Given the description of an element on the screen output the (x, y) to click on. 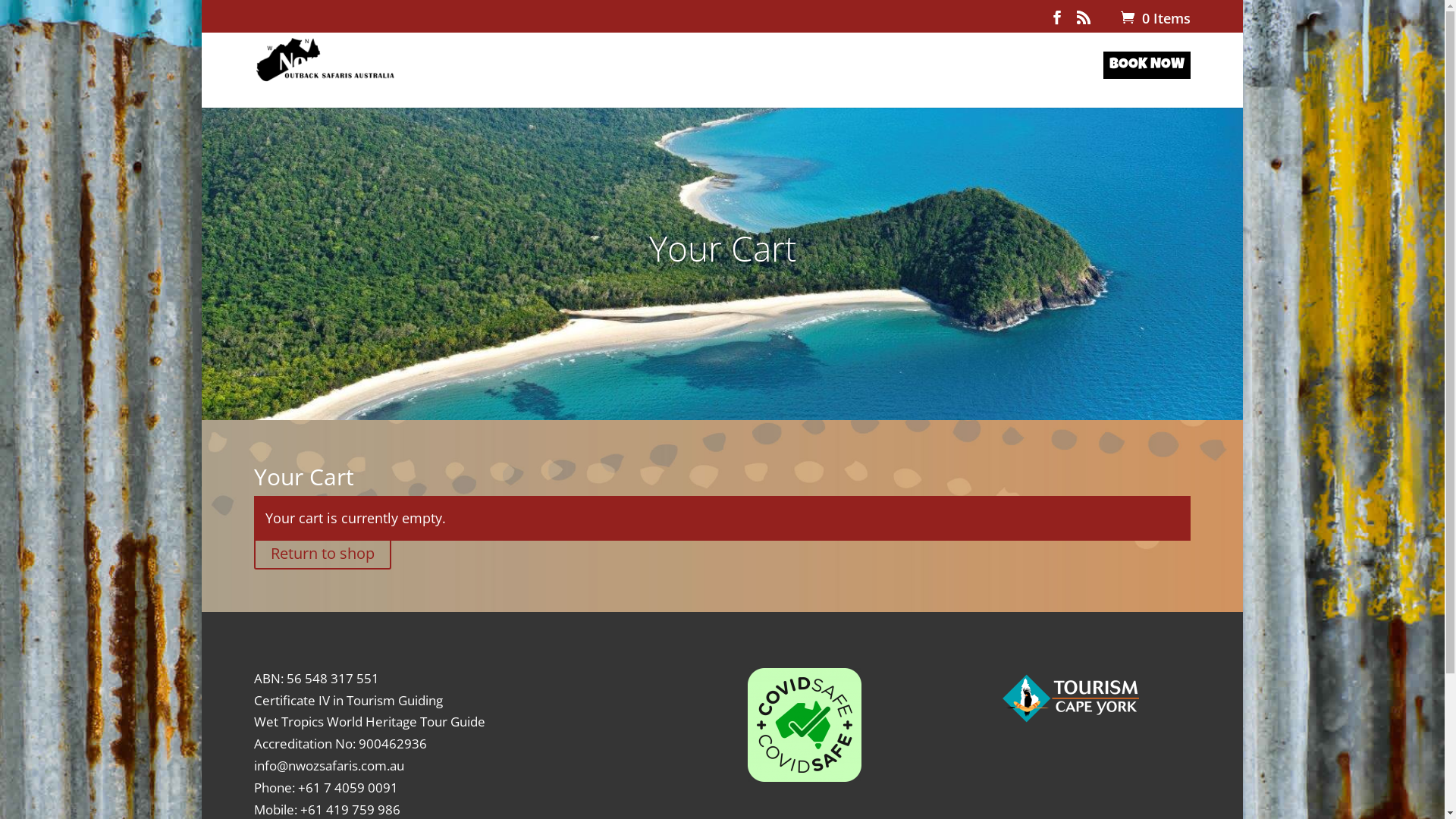
GALLERY Element type: text (974, 83)
0 Items Element type: text (1153, 18)
TOURS Element type: text (630, 83)
Return to shop Element type: text (322, 552)
CONTACT Element type: text (1053, 83)
BOOK NOW Element type: text (1146, 83)
WHY TRAVEL WITH US? Element type: text (756, 83)
HOME Element type: text (561, 83)
info@nwozsafaris.com.au Element type: text (329, 765)
CAPE YORK Element type: text (888, 83)
